Given the description of an element on the screen output the (x, y) to click on. 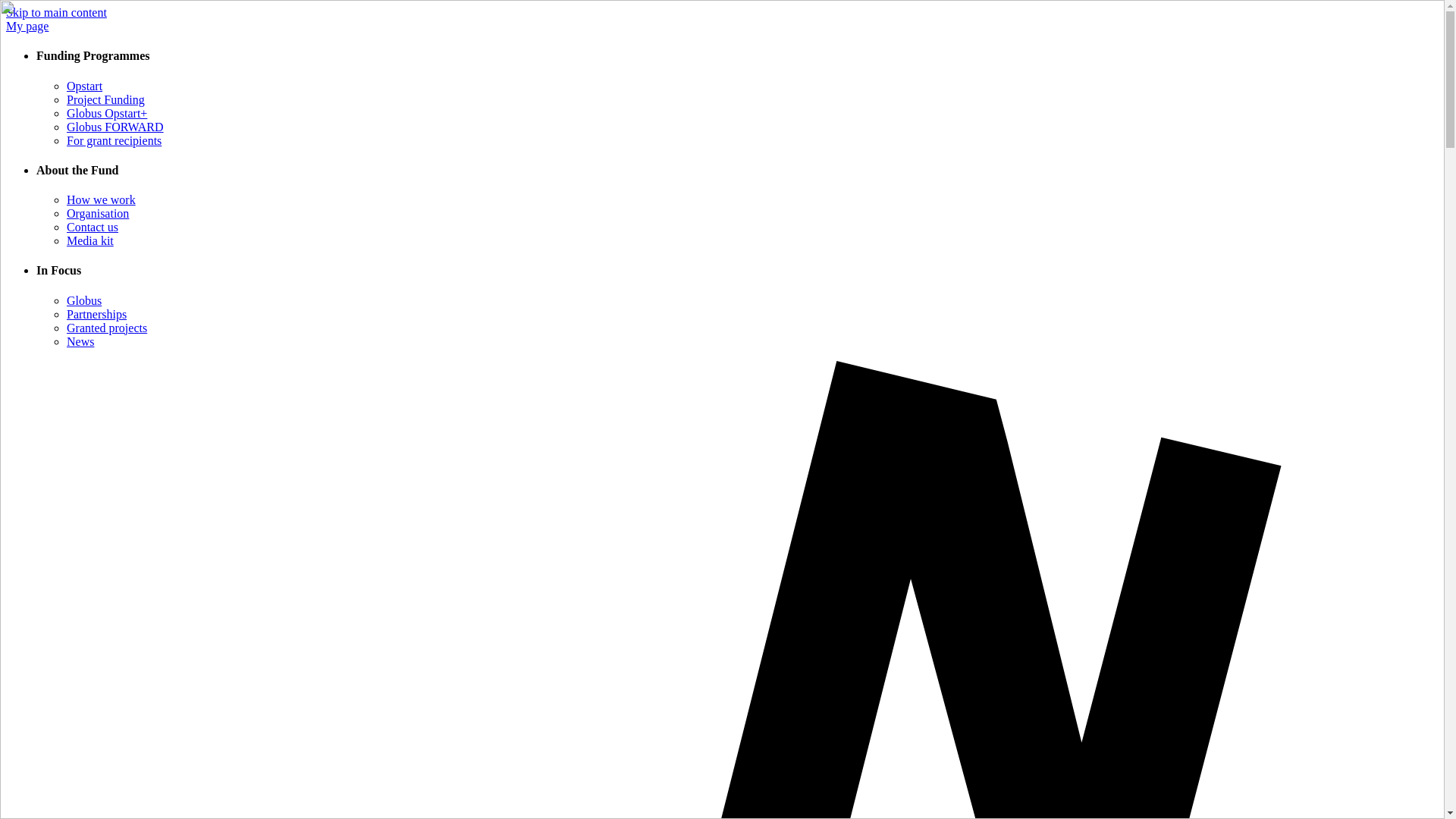
Organisation (97, 213)
News (80, 341)
Globus FORWARD (114, 126)
Opstart (83, 85)
Media kit (89, 240)
Project Funding (105, 99)
Granted projects (106, 327)
Globus (83, 300)
Contact us (91, 226)
Skip to main content (55, 11)
